Given the description of an element on the screen output the (x, y) to click on. 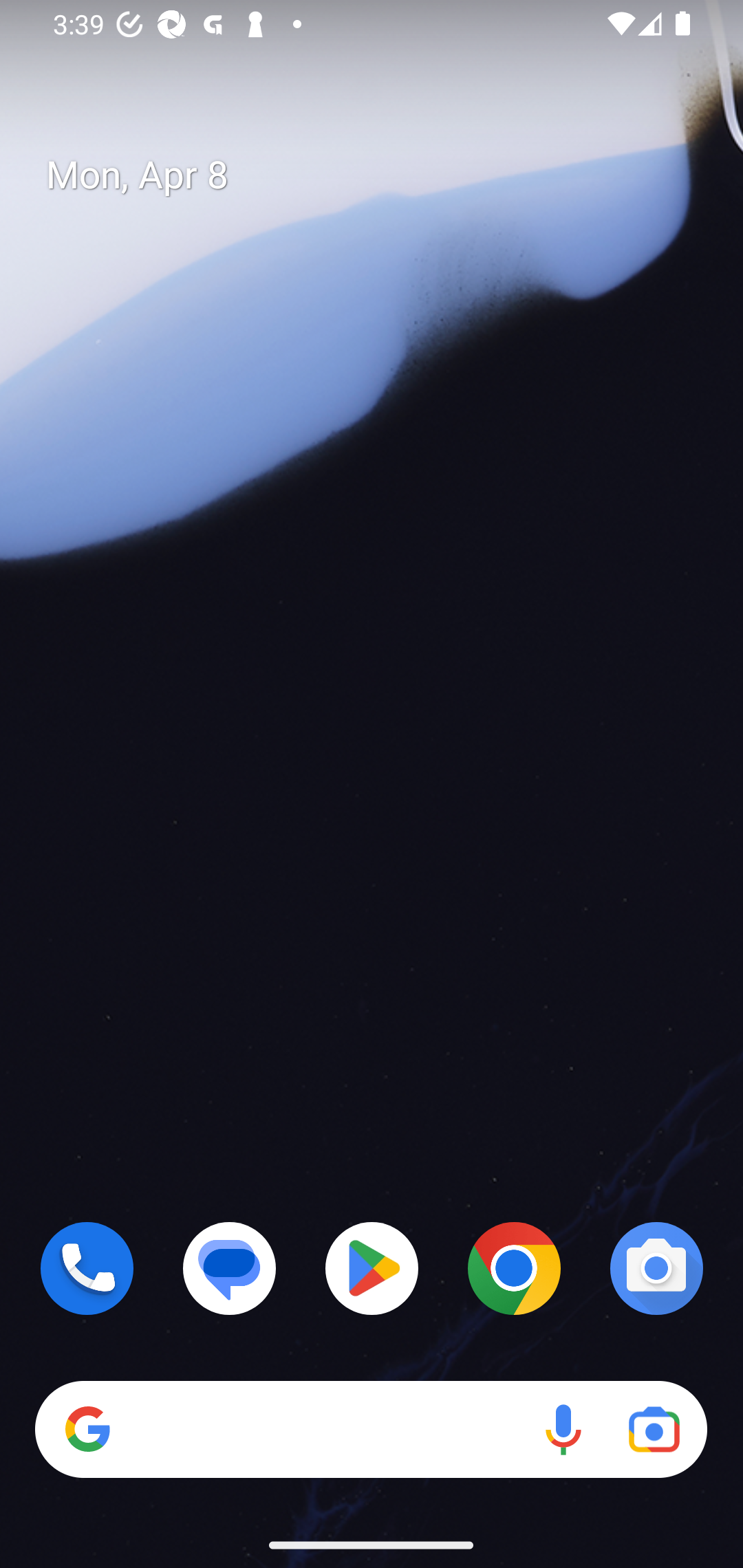
Mon, Apr 8 (386, 175)
Phone (86, 1268)
Messages (229, 1268)
Play Store (371, 1268)
Chrome (513, 1268)
Camera (656, 1268)
Search Voice search Google Lens (370, 1429)
Voice search (562, 1429)
Google Lens (653, 1429)
